Given the description of an element on the screen output the (x, y) to click on. 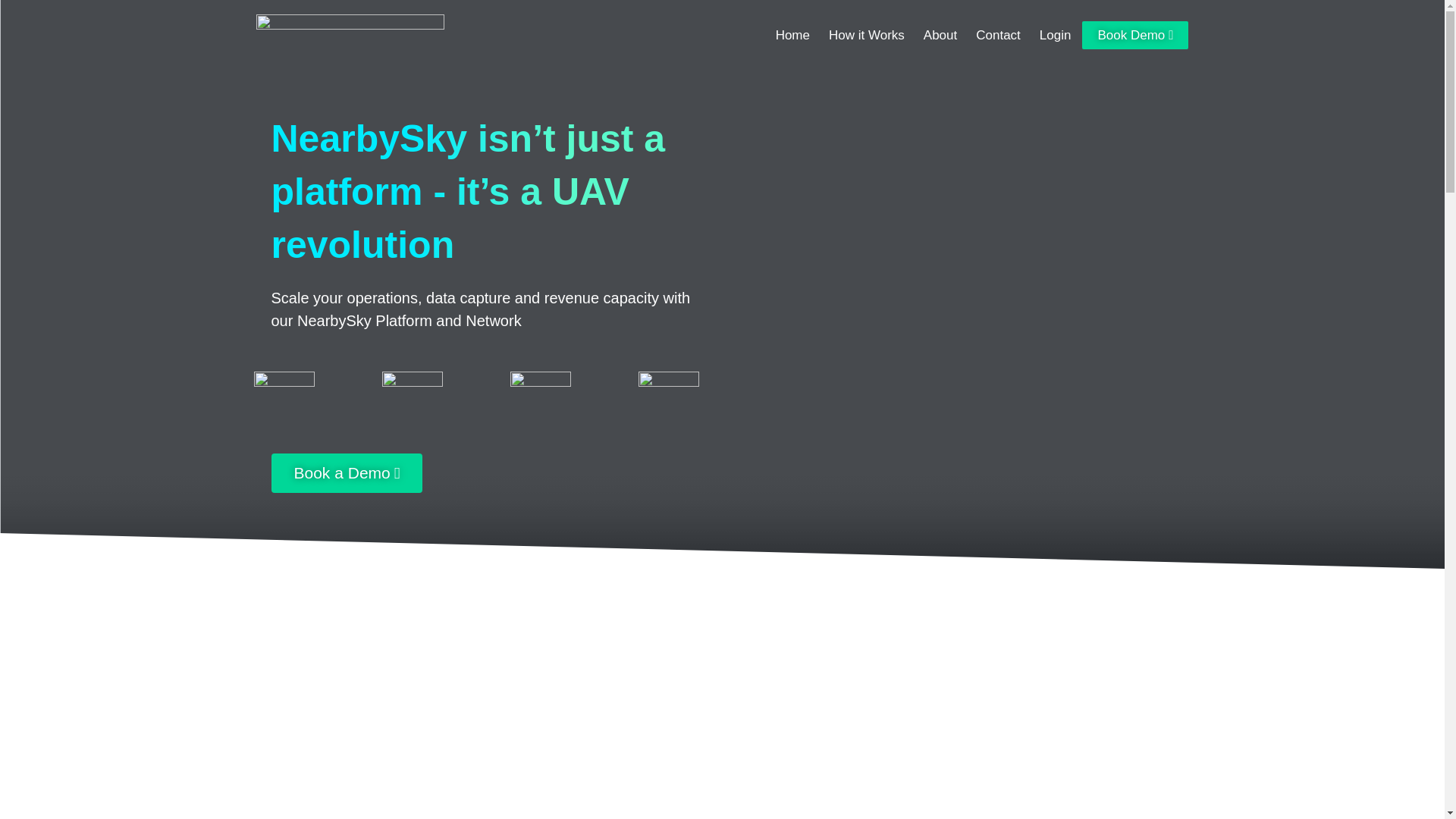
Book a Demo (346, 473)
How it Works (866, 35)
Contact (997, 35)
Login (1055, 35)
About (939, 35)
Home (792, 35)
Book Demo (1134, 35)
